Given the description of an element on the screen output the (x, y) to click on. 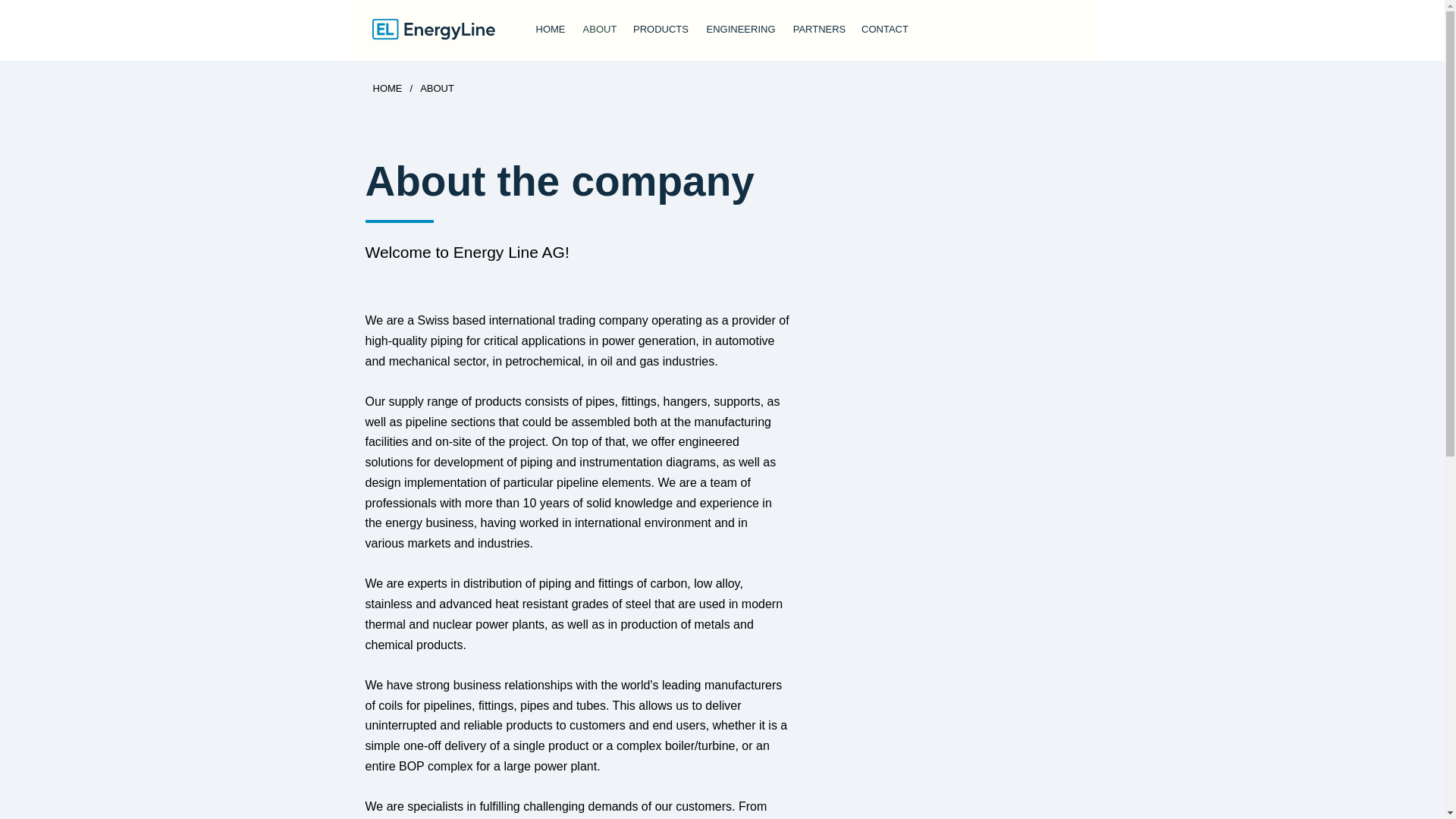
ABOUT (436, 88)
HOME (549, 29)
ENGINEERING (739, 29)
CONTACT (885, 29)
HOME (387, 88)
PARTNERS (819, 29)
ABOUT (600, 29)
PRODUCTS (659, 29)
